Given the description of an element on the screen output the (x, y) to click on. 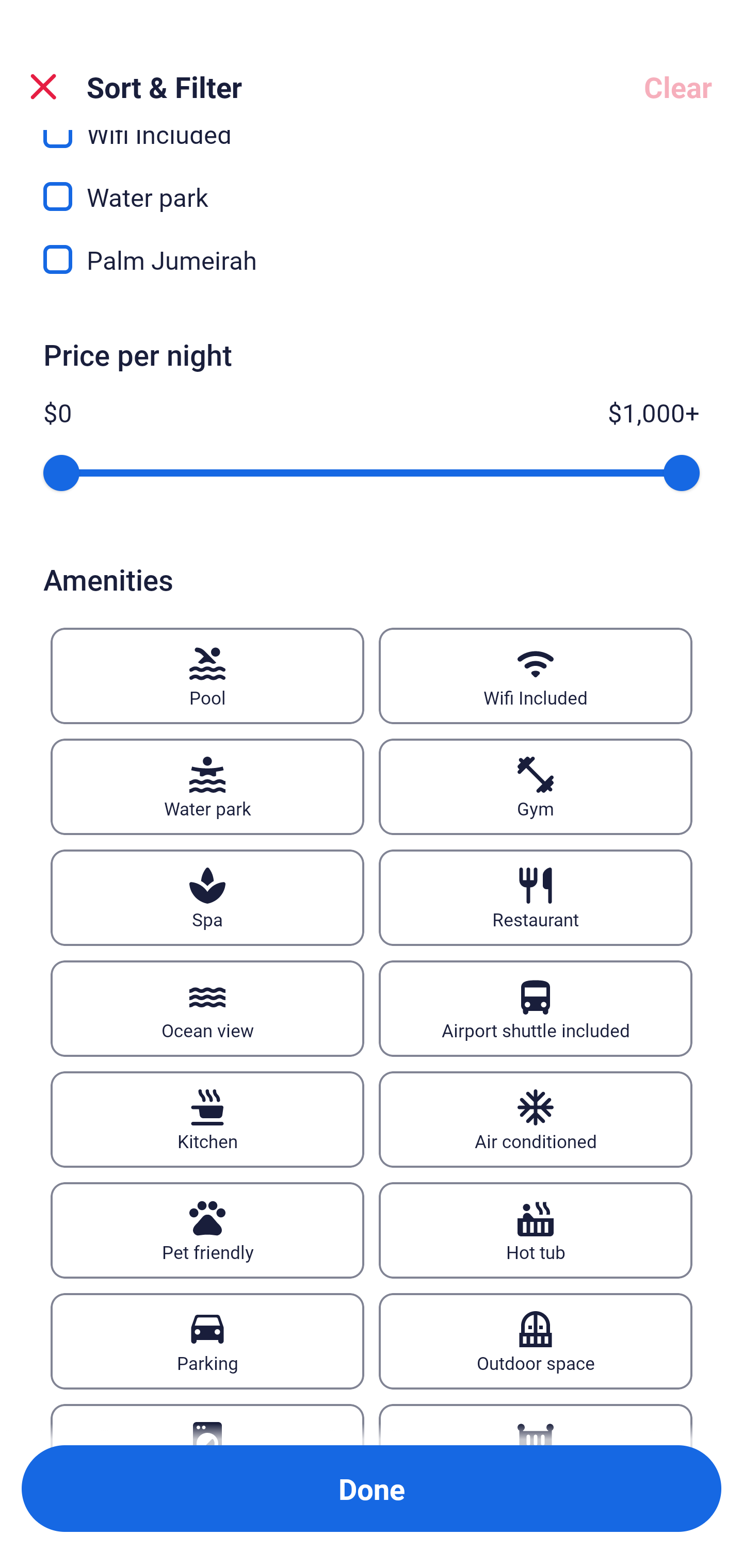
Close Sort and Filter (43, 86)
Clear (677, 86)
Water park, Water park (371, 184)
Palm Jumeirah, Palm Jumeirah (371, 259)
Pool (207, 675)
Wifi Included (535, 675)
Water park (207, 786)
Gym (535, 786)
Spa (207, 897)
Restaurant (535, 897)
Ocean view (207, 1007)
Airport shuttle included (535, 1007)
Kitchen (207, 1119)
Air conditioned (535, 1119)
Pet friendly (207, 1229)
Hot tub (535, 1229)
Parking (207, 1341)
Outdoor space (535, 1341)
Apply and close Sort and Filter Done (371, 1488)
